Given the description of an element on the screen output the (x, y) to click on. 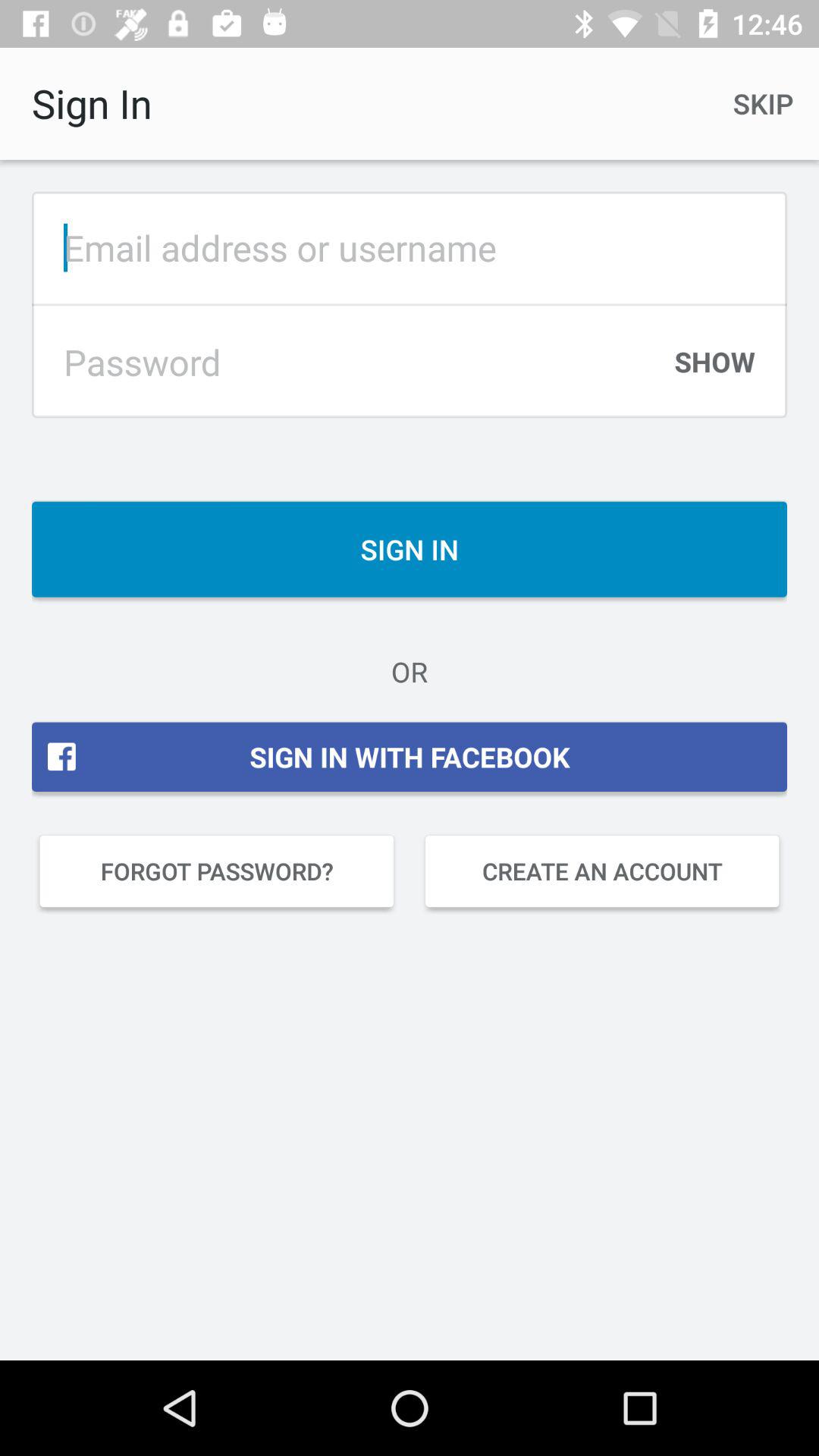
turn off icon to the right of sign in (763, 103)
